Given the description of an element on the screen output the (x, y) to click on. 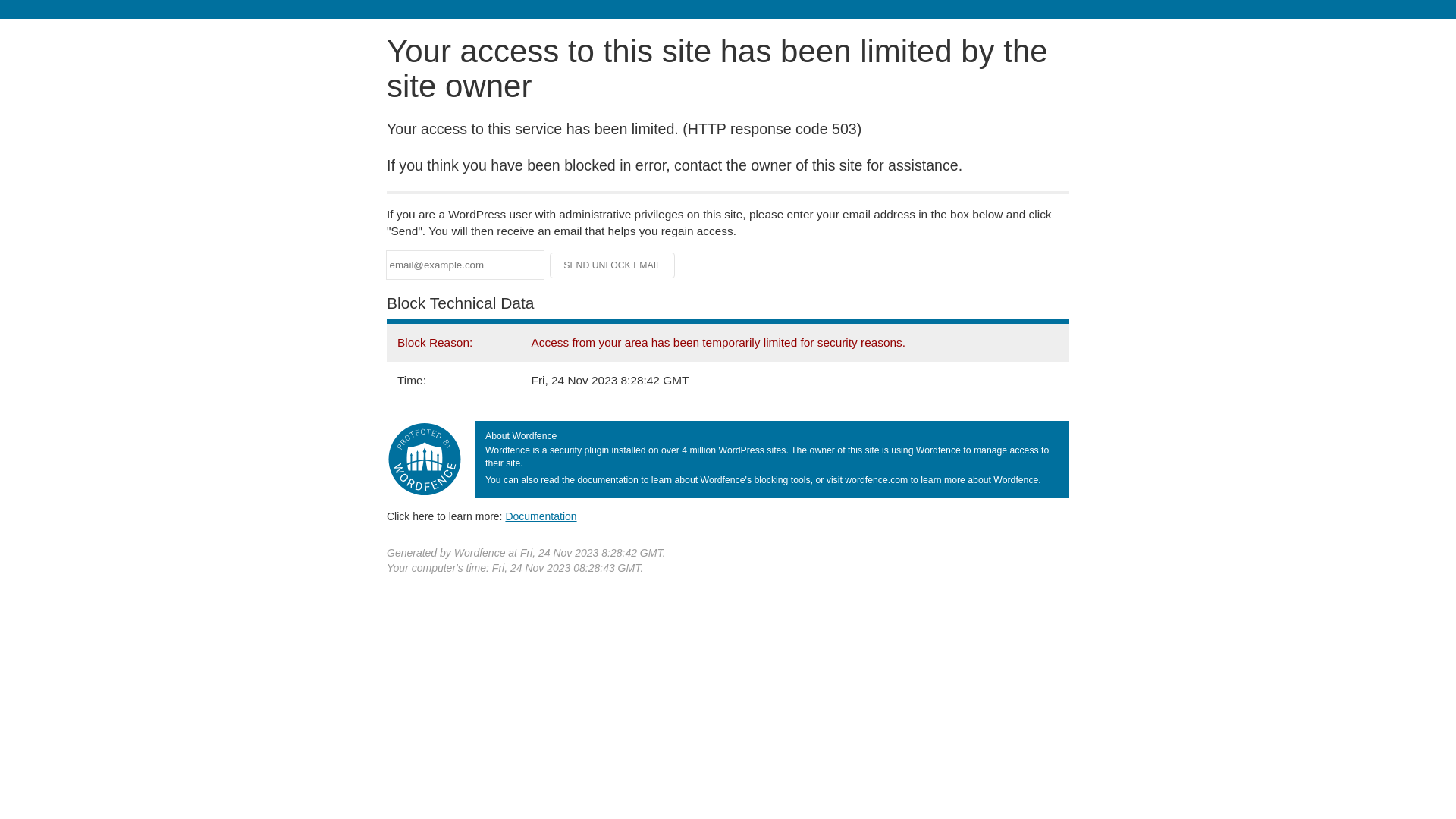
Documentation Element type: text (540, 516)
Send Unlock Email Element type: text (612, 265)
